Given the description of an element on the screen output the (x, y) to click on. 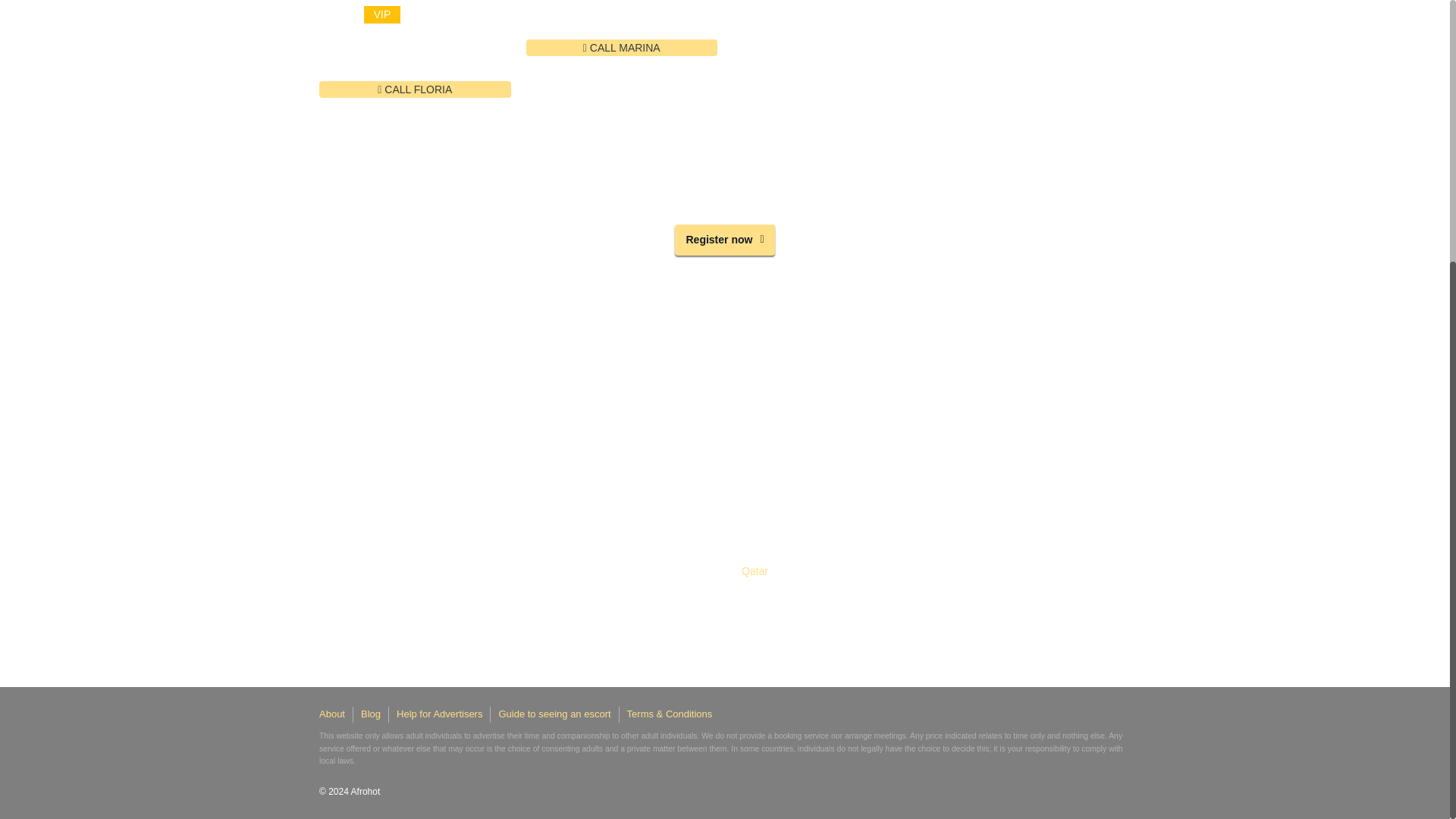
About (331, 714)
Register now (724, 239)
Qatar (754, 570)
CALL MARINA (621, 47)
CALL FLORIA (414, 89)
